Given the description of an element on the screen output the (x, y) to click on. 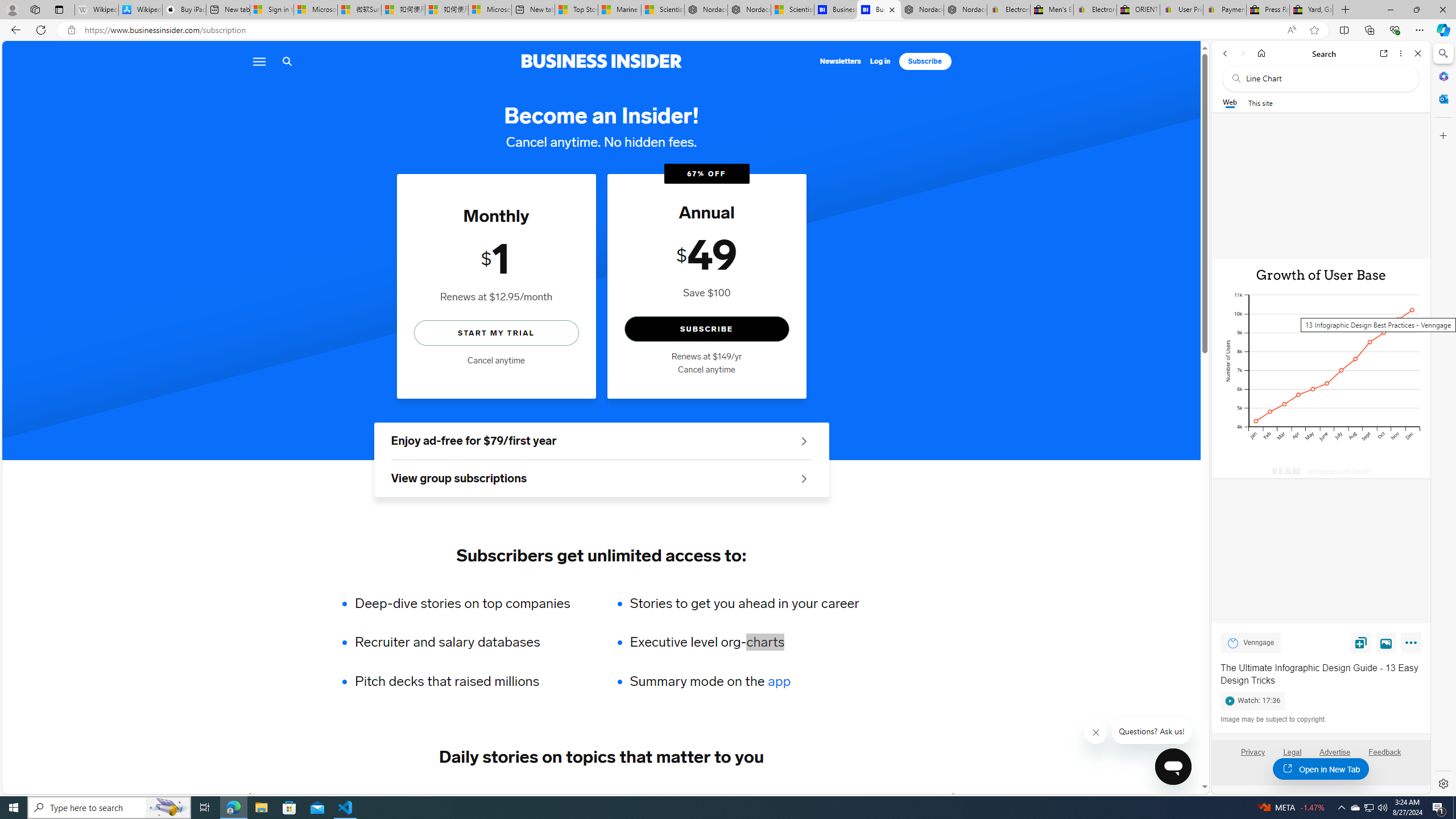
Newsletters (840, 61)
Open messaging window (1172, 766)
View group subscriptions See group offers (601, 478)
Business Insider logo (601, 60)
Pitch decks that raised millions (470, 681)
Go to the search page. (286, 61)
